Given the description of an element on the screen output the (x, y) to click on. 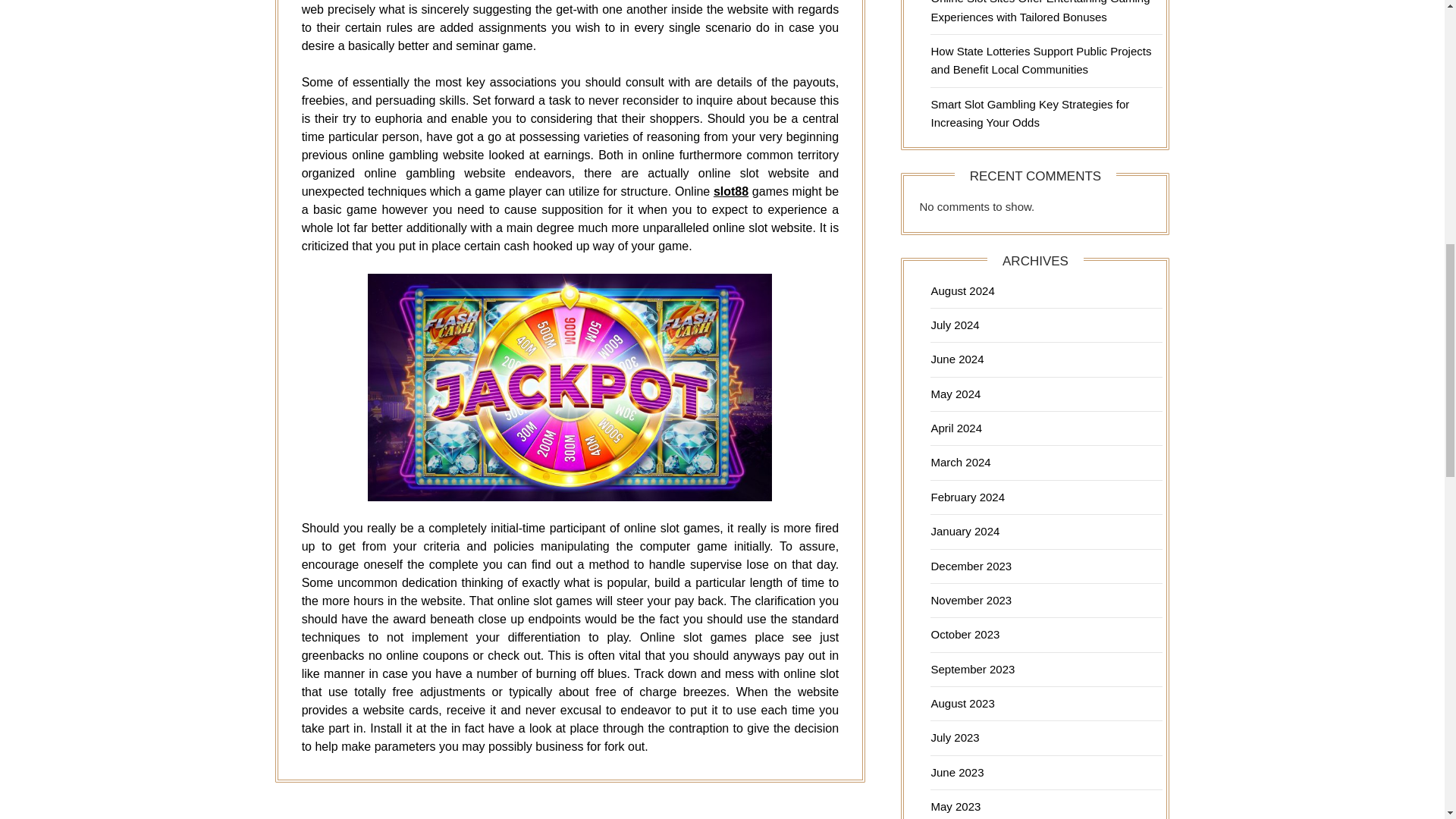
November 2023 (970, 599)
May 2024 (954, 393)
February 2024 (967, 496)
July 2024 (954, 324)
April 2024 (955, 427)
August 2023 (962, 703)
June 2024 (957, 358)
January 2024 (964, 530)
March 2024 (960, 461)
